Given the description of an element on the screen output the (x, y) to click on. 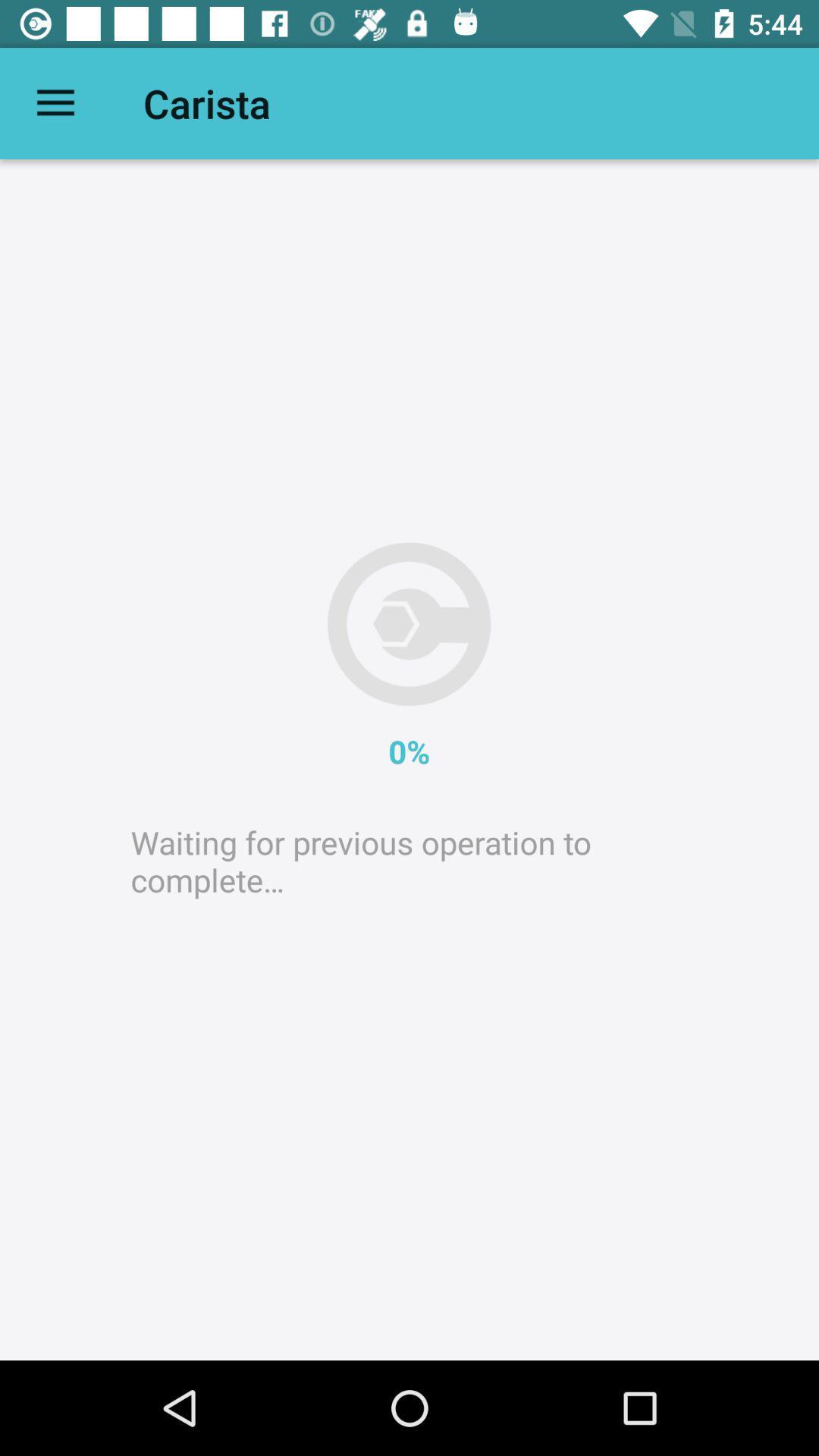
launch the item next to carista (55, 103)
